Given the description of an element on the screen output the (x, y) to click on. 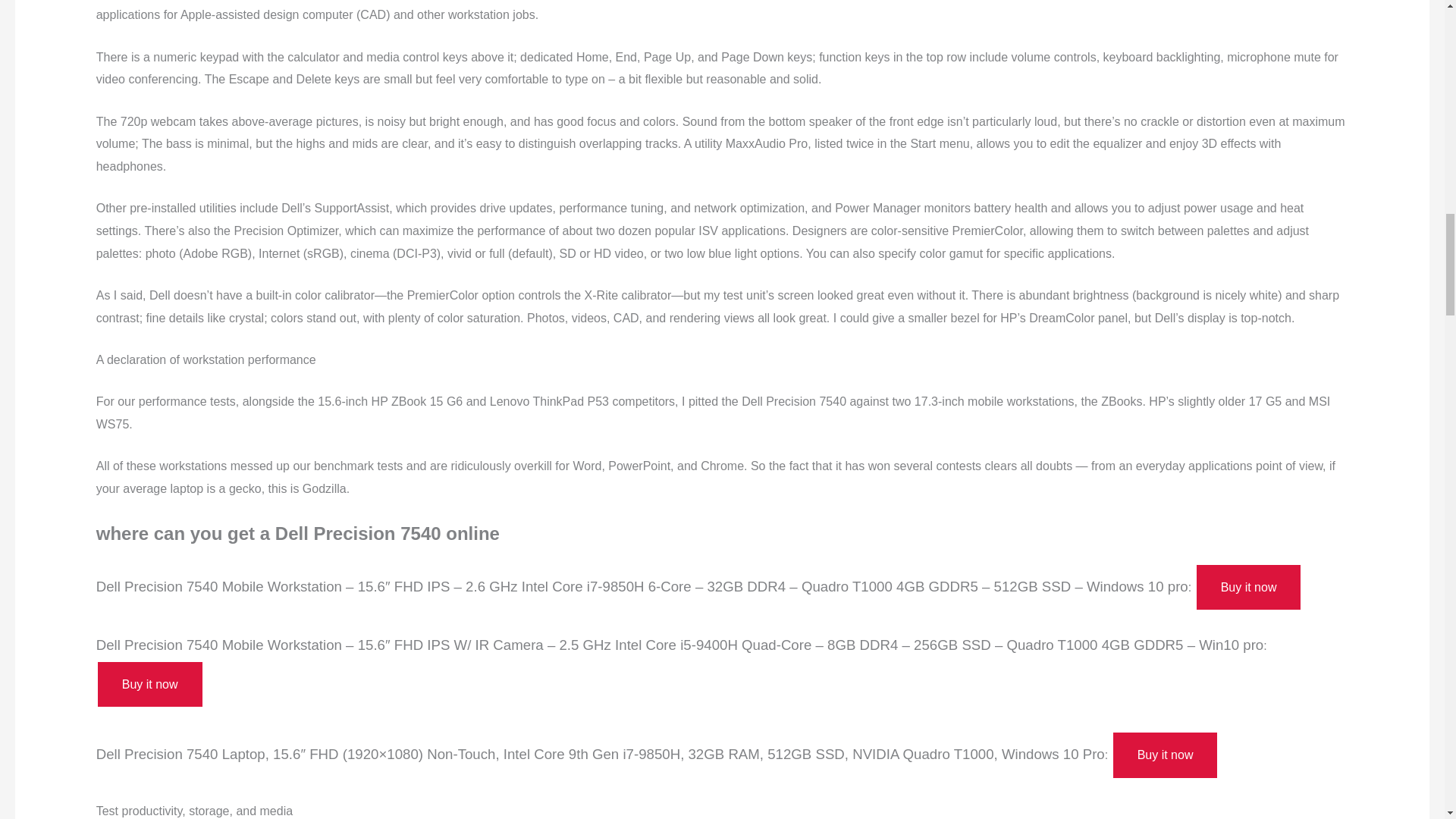
Buy it now (149, 684)
Buy it now (1248, 587)
Buy it now (1165, 755)
